Given the description of an element on the screen output the (x, y) to click on. 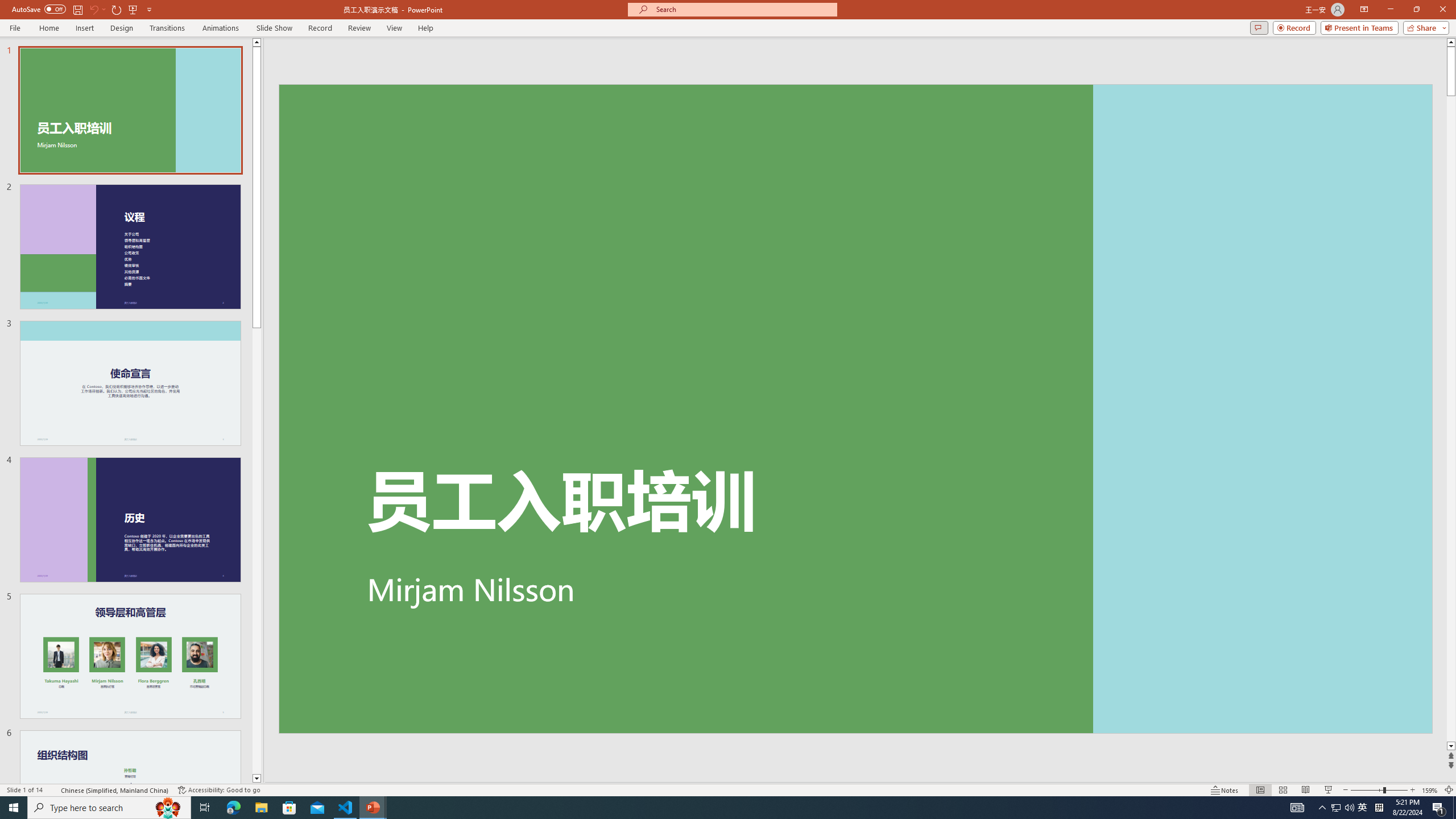
Class: MsoCommandBar (728, 789)
